Given the description of an element on the screen output the (x, y) to click on. 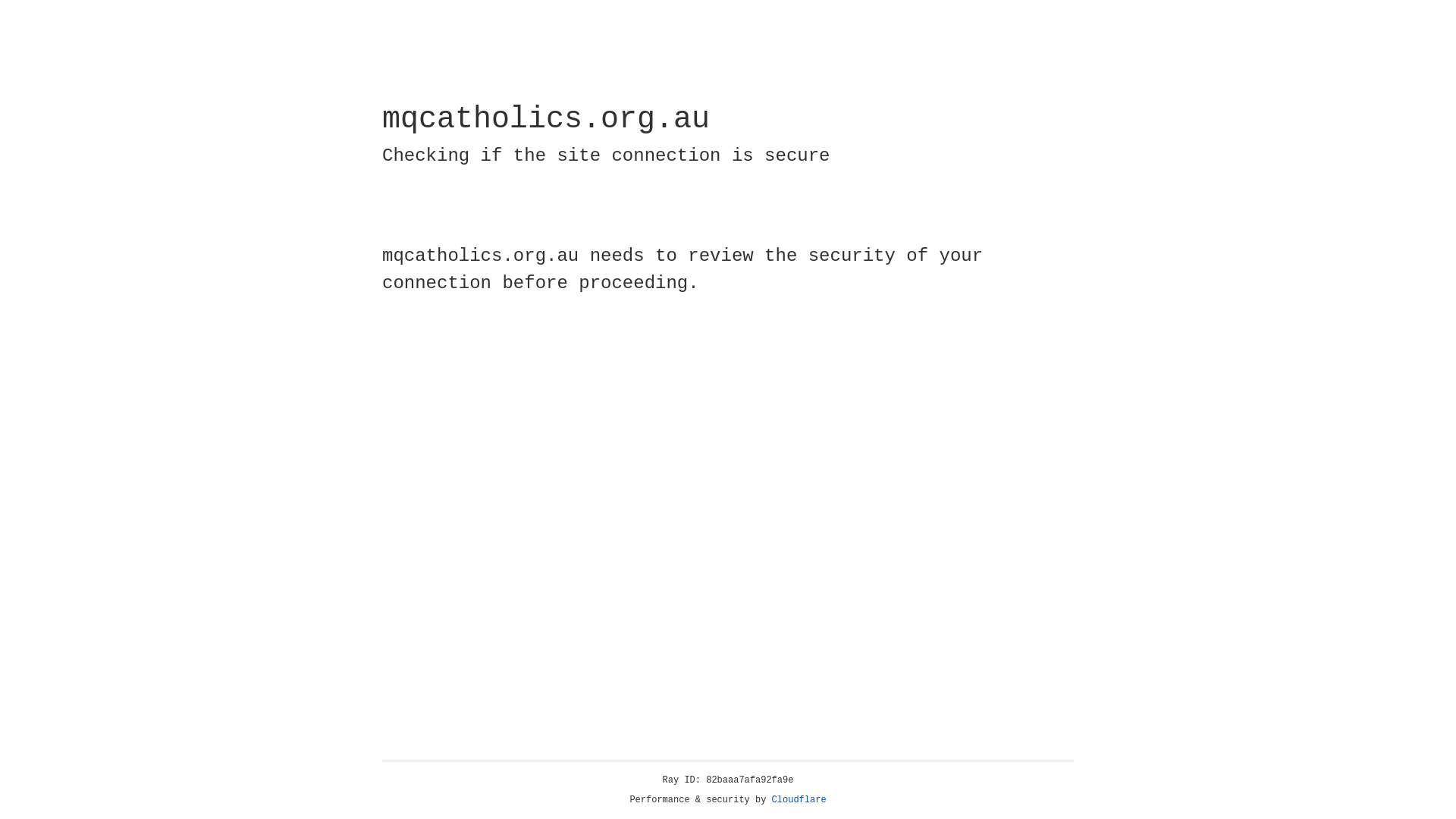
Cloudflare Element type: text (798, 799)
